Given the description of an element on the screen output the (x, y) to click on. 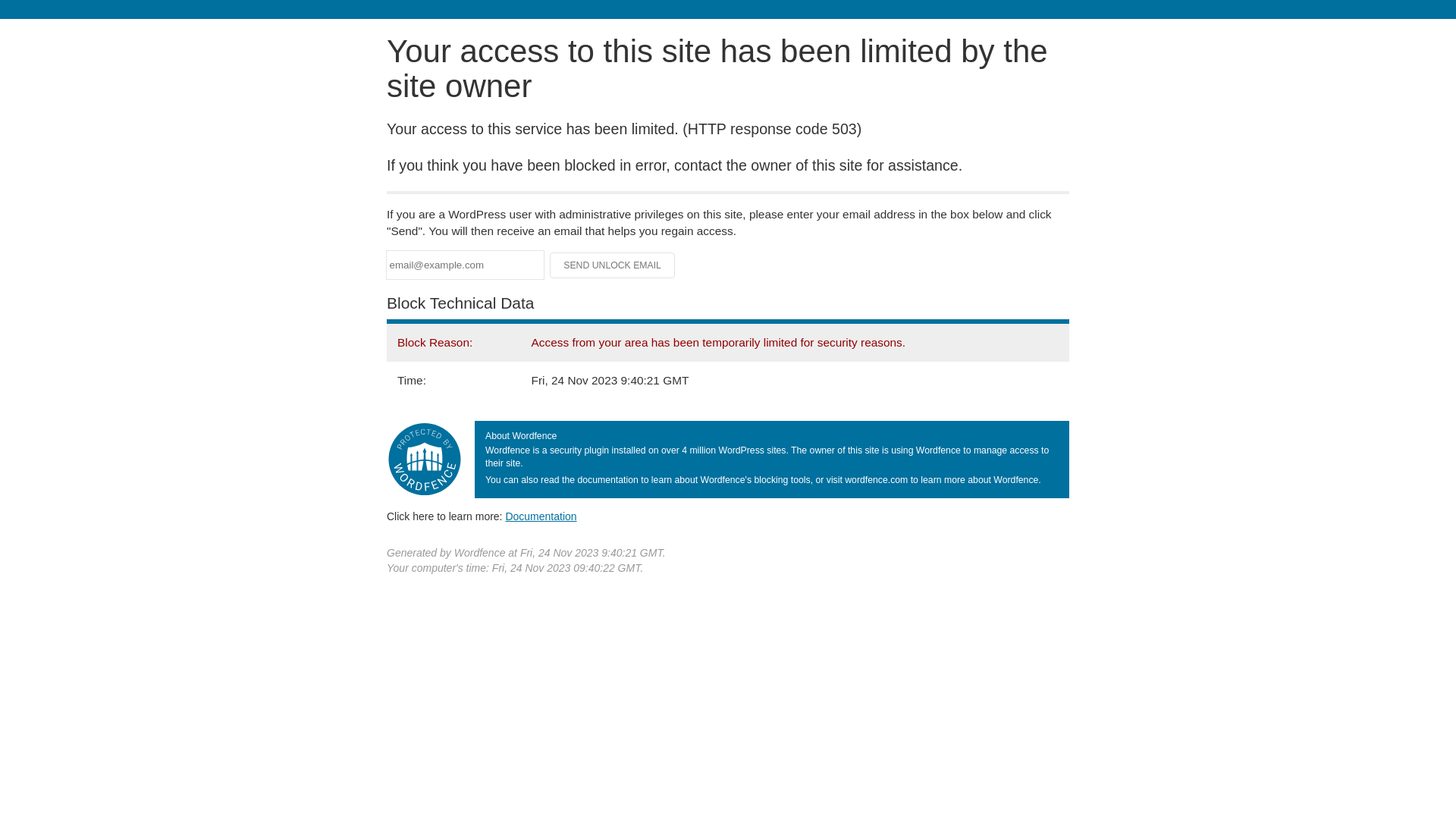
Documentation Element type: text (540, 516)
Send Unlock Email Element type: text (612, 265)
